Given the description of an element on the screen output the (x, y) to click on. 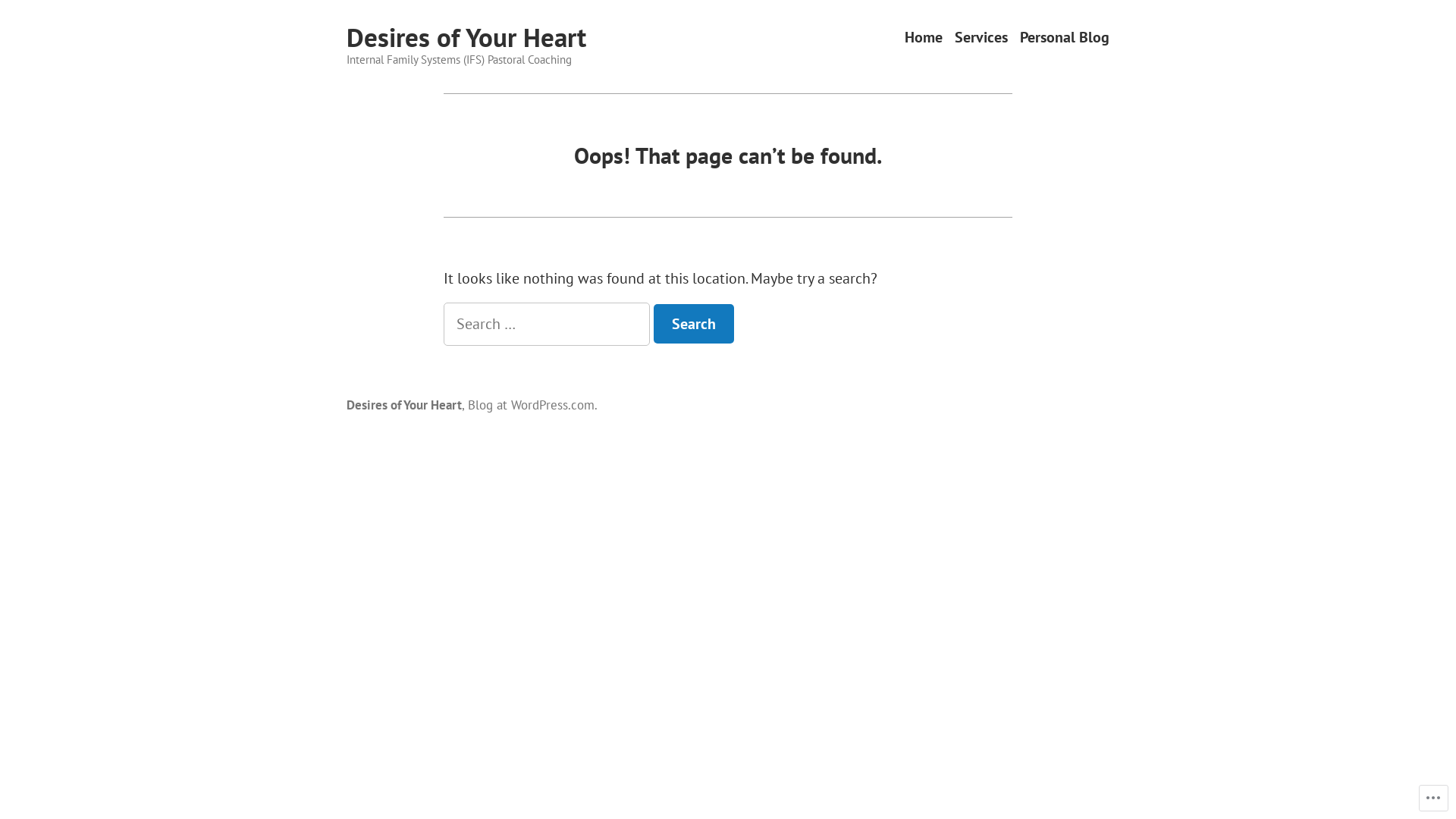
Home Element type: text (923, 37)
Personal Blog Element type: text (1064, 37)
Services Element type: text (980, 37)
Search Element type: text (693, 323)
Desires of Your Heart Element type: text (403, 404)
Blog at WordPress.com. Element type: text (532, 404)
Desires of Your Heart Element type: text (466, 36)
